Given the description of an element on the screen output the (x, y) to click on. 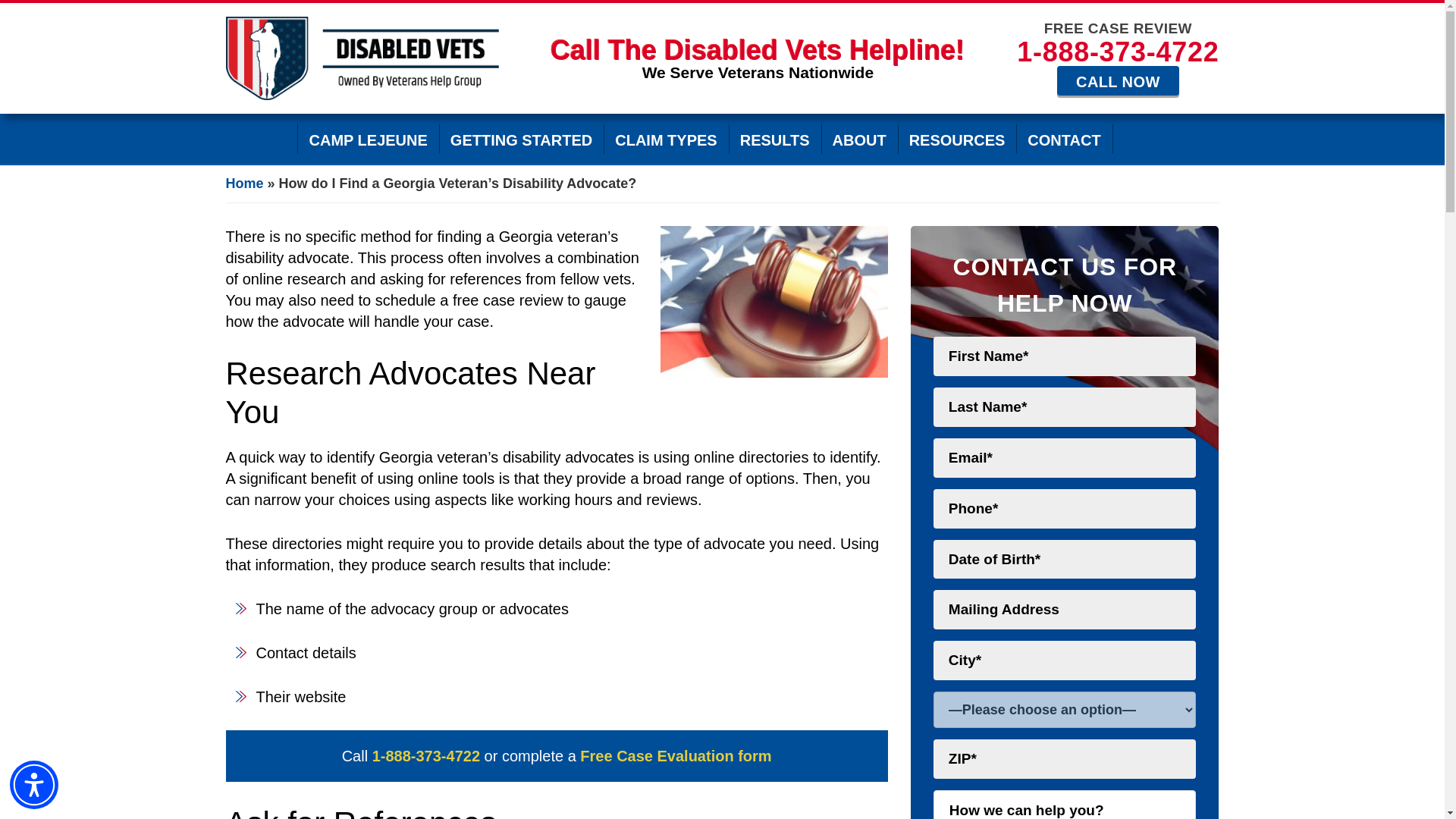
Home (244, 183)
Accessibility Menu (34, 784)
Contact (1118, 81)
Logotype (362, 57)
ABOUT (859, 137)
CALL NOW (1118, 81)
CAMP LEJEUNE (367, 137)
RESOURCES (957, 137)
GETTING STARTED (521, 137)
Telephone (1117, 52)
CLAIM TYPES (666, 137)
1-888-373-4722 (426, 755)
Home (261, 137)
RESULTS (775, 137)
CONTACT (1064, 137)
